Given the description of an element on the screen output the (x, y) to click on. 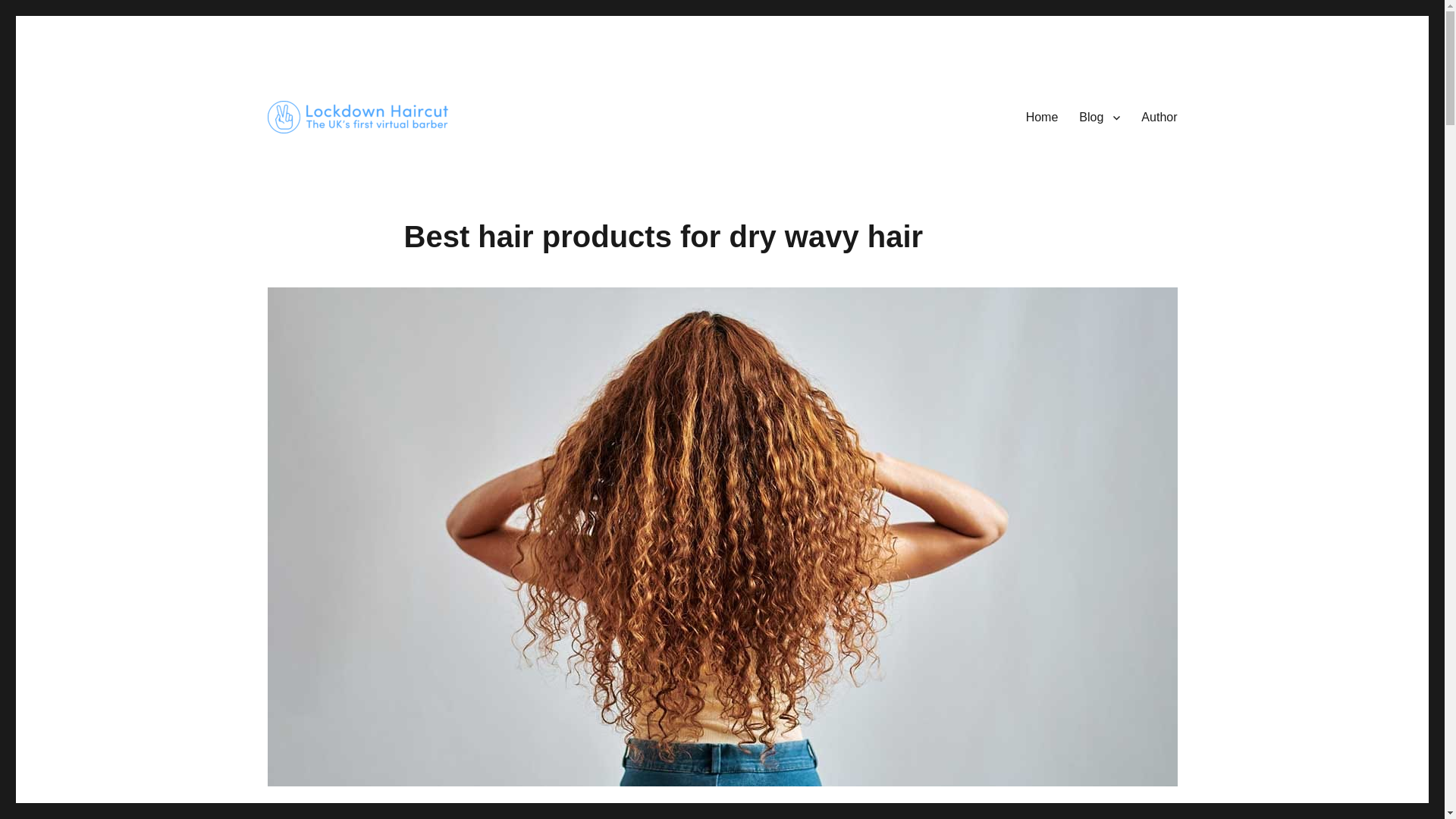
Home (1041, 117)
Author (1159, 117)
Lockdown Haircut (358, 156)
Blog (1099, 117)
